Given the description of an element on the screen output the (x, y) to click on. 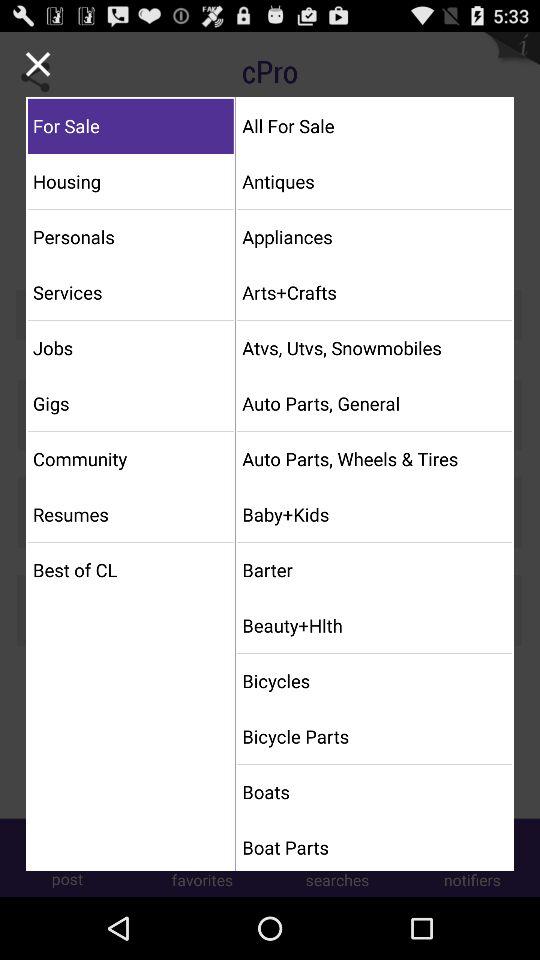
swipe to bicycle parts item (374, 736)
